Given the description of an element on the screen output the (x, y) to click on. 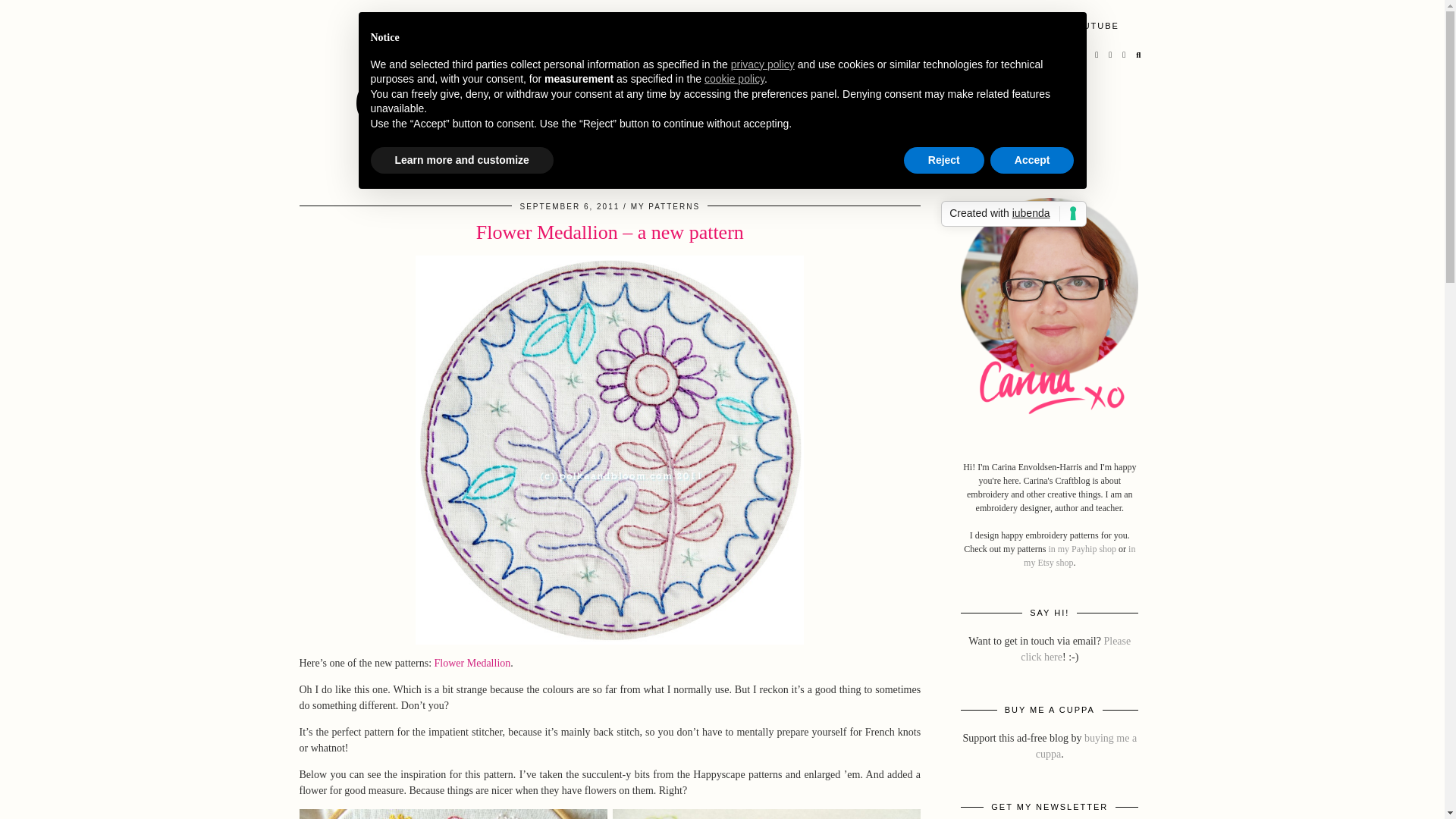
HOME (679, 25)
BUY EMBROIDERY PATTERNS (799, 25)
Carina's Craftblog (469, 71)
Carina's Craftblog (469, 71)
